Given the description of an element on the screen output the (x, y) to click on. 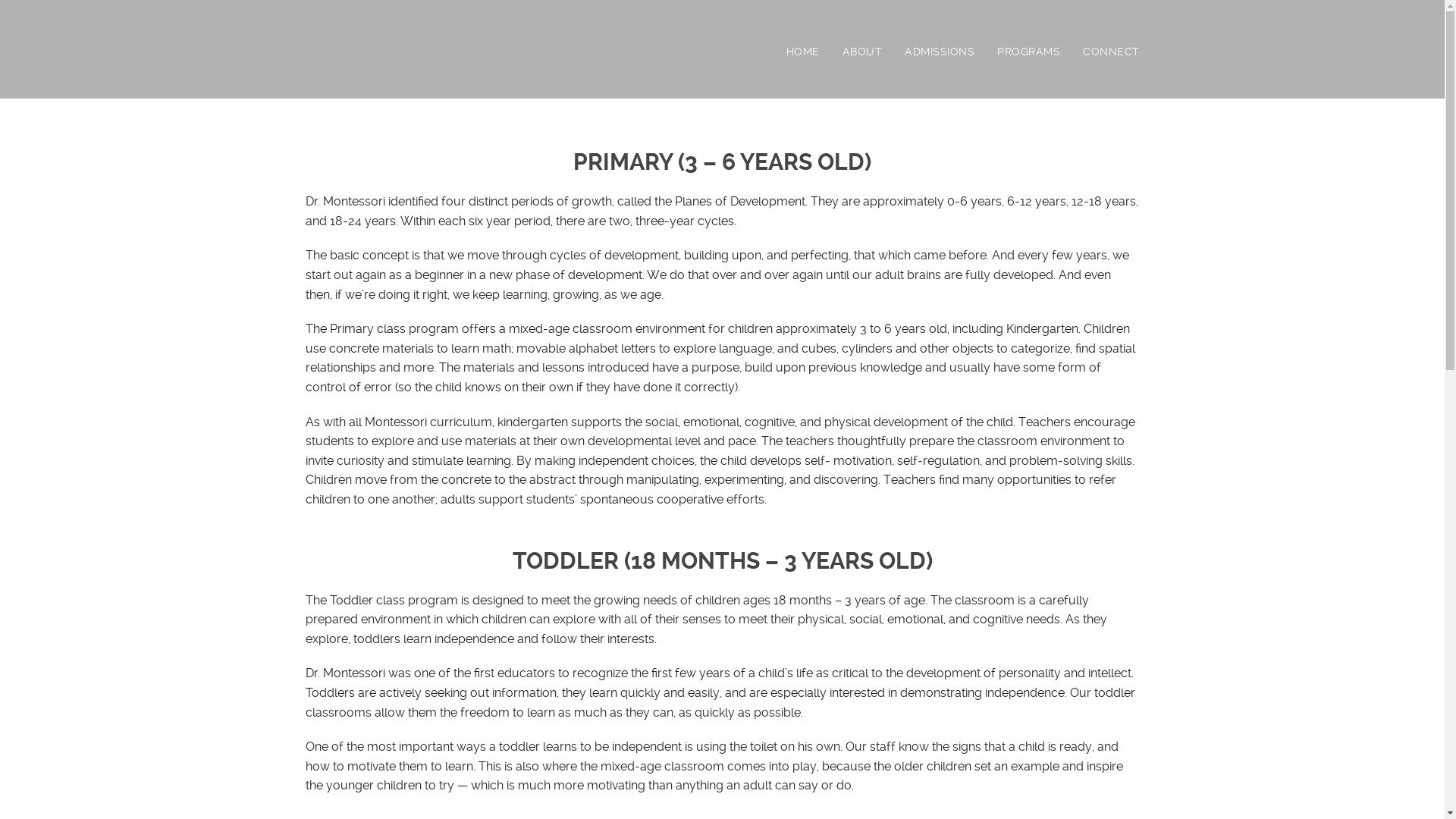
HOME Element type: text (813, 51)
PRIMARY (3-6 YEARS OLD) Element type: text (1039, 67)
ABOUT Element type: text (872, 51)
WHAT IS MONTESSORI? Element type: text (872, 89)
WEE BITS (12 - 20 MONTHS OLD) Element type: text (1039, 110)
ADMISSIONS Element type: text (950, 51)
  Element type: text (306, 54)
TODDLER (18 MONTHS - 3 YEARS OLD) Element type: text (1039, 89)
PROGRAMS Element type: text (1039, 51)
CONNECT Element type: text (1110, 51)
